Given the description of an element on the screen output the (x, y) to click on. 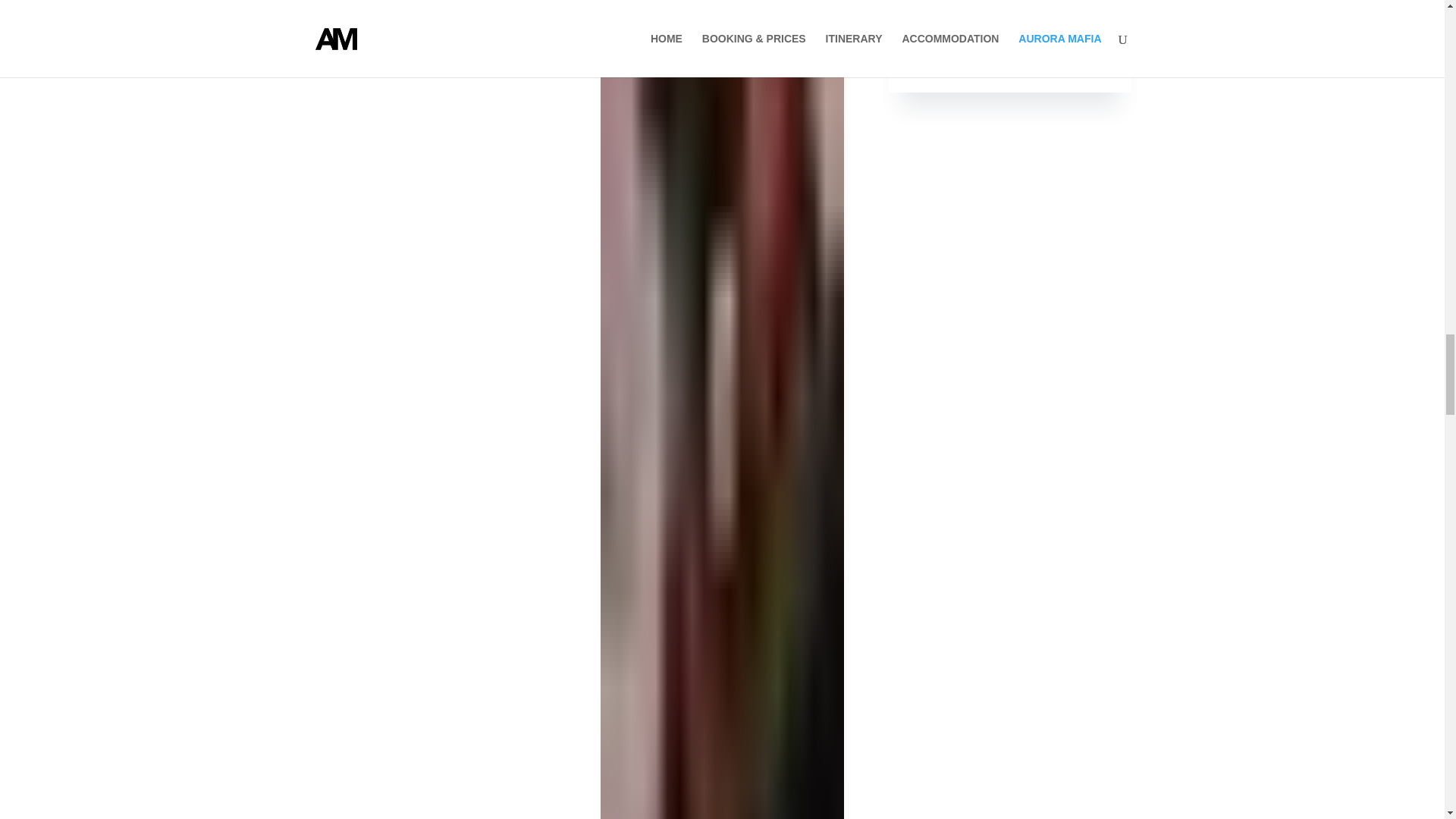
Luisa Schaffner, Aurora Mafia, Lapland, Finland (1009, 16)
